Given the description of an element on the screen output the (x, y) to click on. 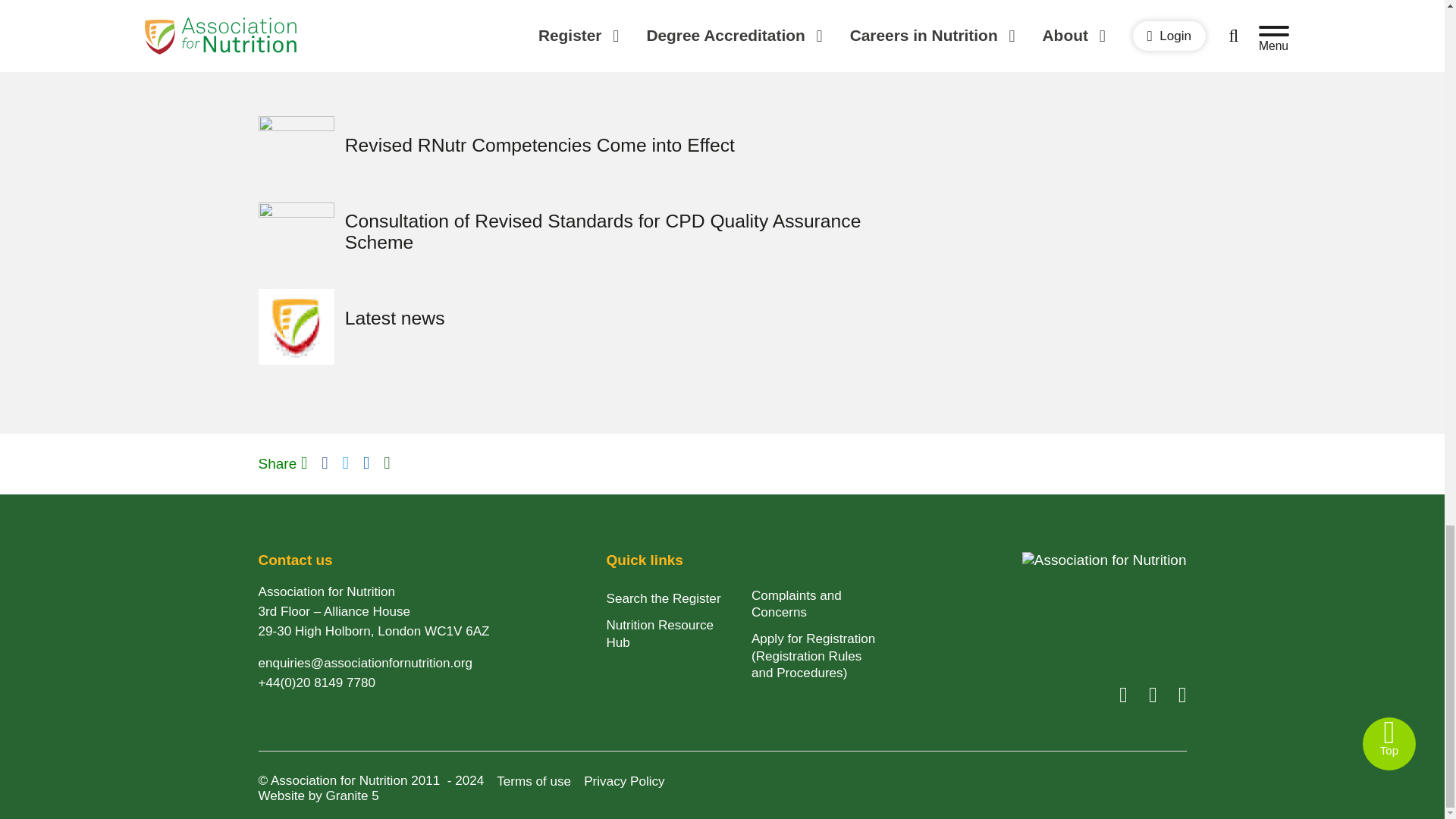
Back to top of page (1388, 743)
